Given the description of an element on the screen output the (x, y) to click on. 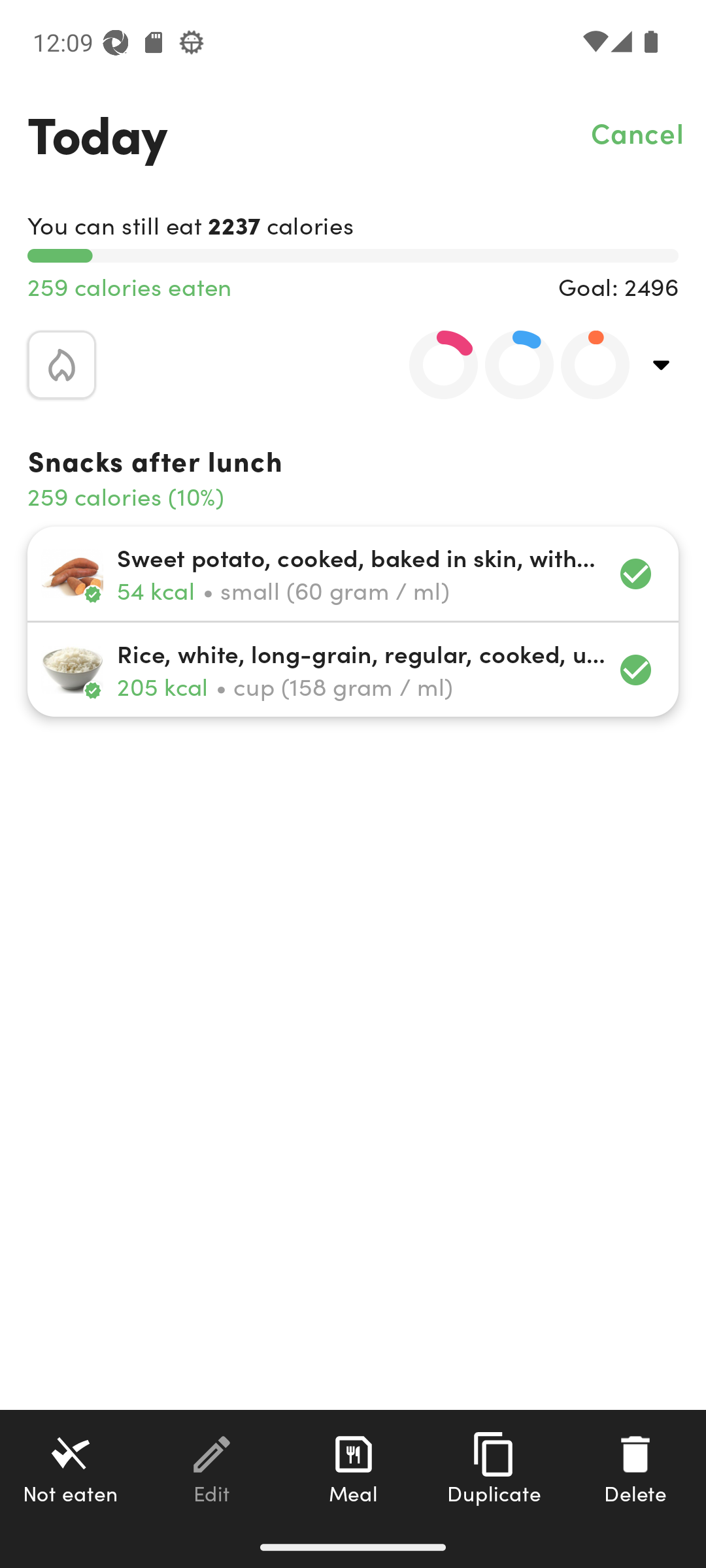
Cancel (637, 132)
calorie_icon (62, 365)
0.15 0.09 0.01 (508, 365)
top_right_action (661, 365)
Not eaten (70, 1468)
Edit (211, 1468)
Meal (352, 1468)
Duplicate (493, 1468)
Delete (635, 1468)
